Given the description of an element on the screen output the (x, y) to click on. 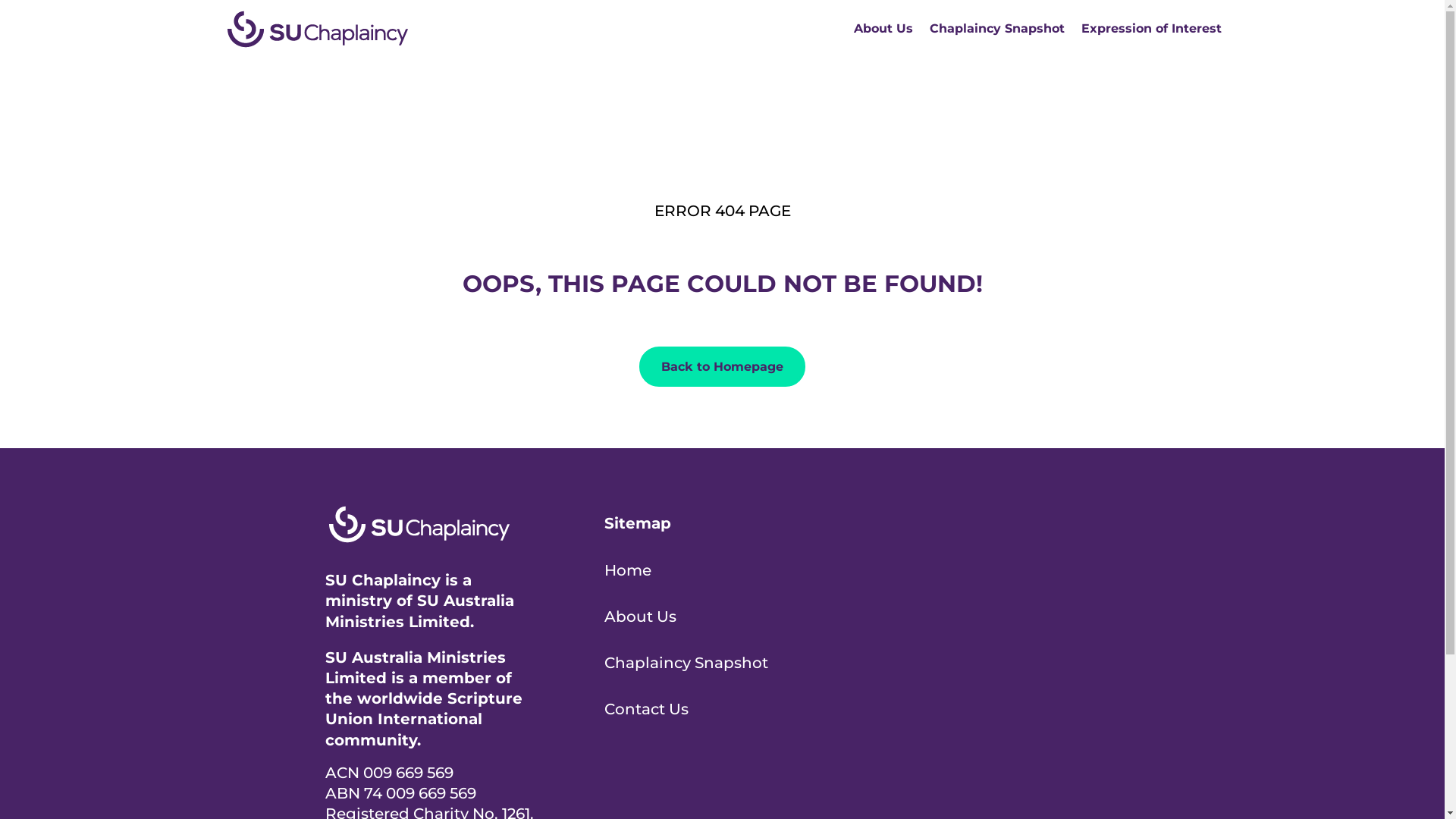
Chaplaincy Snapshot Element type: text (996, 28)
Back to Homepage Element type: text (722, 366)
Expression of Interest Element type: text (1151, 28)
suchaplaincy_Logo-White Element type: hover (418, 524)
About Us Element type: text (883, 28)
